Given the description of an element on the screen output the (x, y) to click on. 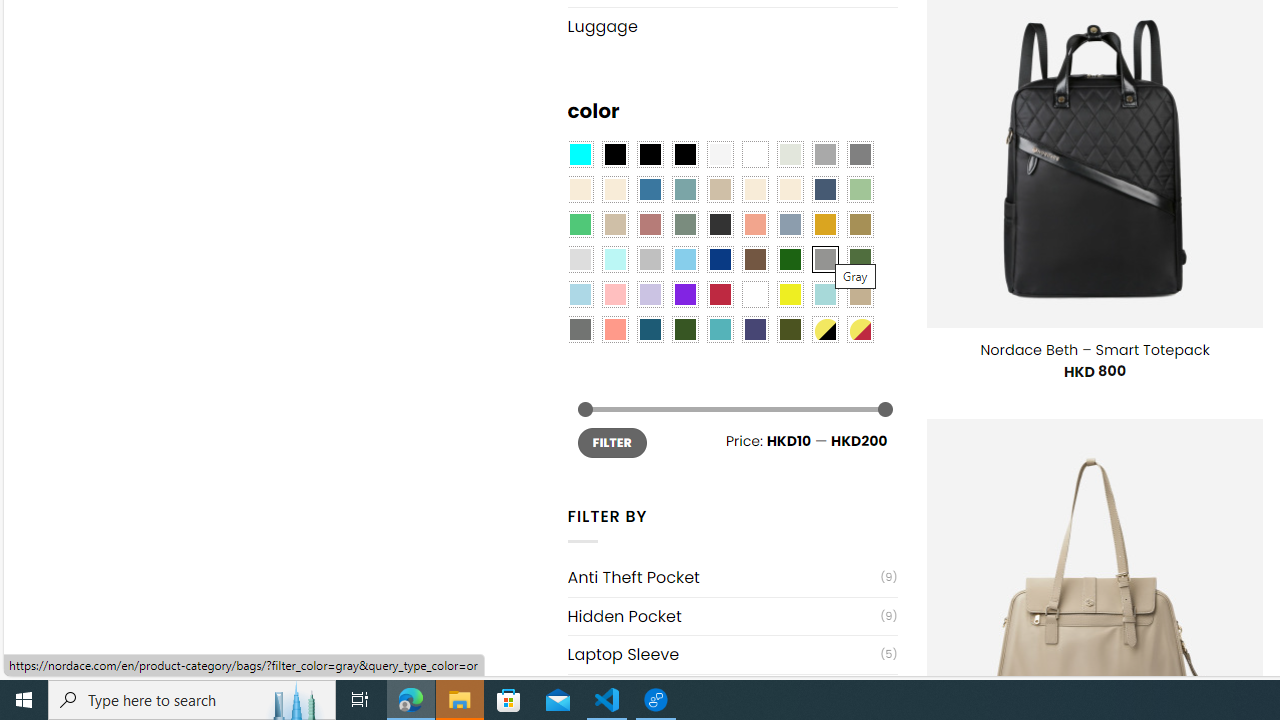
Dark Gray (824, 154)
USB Charging Port (723, 693)
Rose (650, 224)
White (755, 295)
All Gray (859, 154)
Pearly White (719, 154)
Yellow-Red (859, 329)
Silver (650, 259)
Dark Green (789, 259)
Coral (755, 224)
Sky Blue (684, 259)
Black-Brown (684, 154)
Yellow-Black (824, 329)
Beige (579, 190)
